Given the description of an element on the screen output the (x, y) to click on. 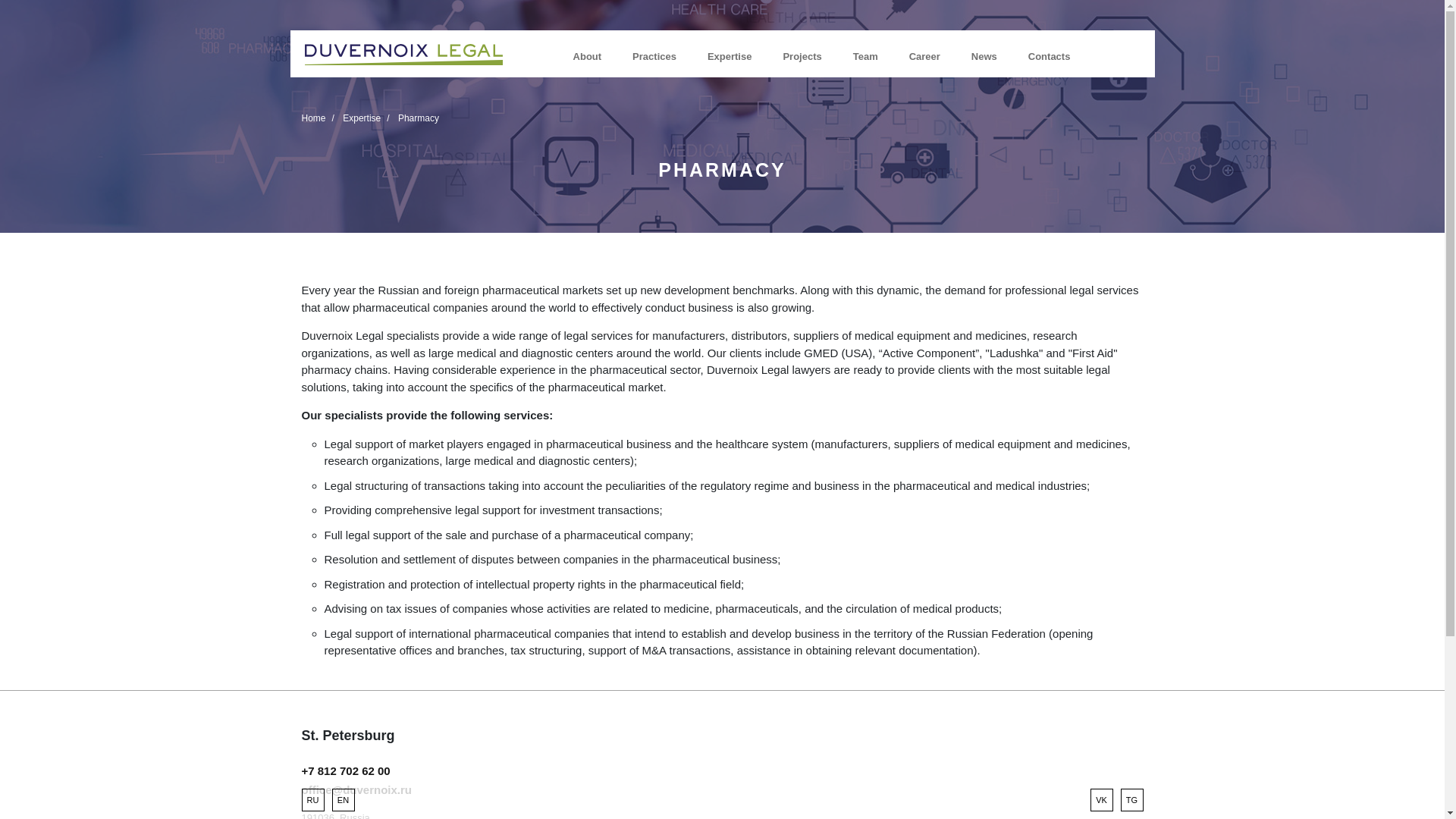
Expertise (729, 56)
Projects (802, 56)
EN (343, 799)
RU (312, 799)
Expertise (361, 118)
About (587, 56)
Practices (654, 56)
VK (1101, 799)
Career (924, 56)
Team (865, 56)
TG (1131, 799)
Contacts (1048, 56)
Home (313, 118)
News (984, 56)
